Given the description of an element on the screen output the (x, y) to click on. 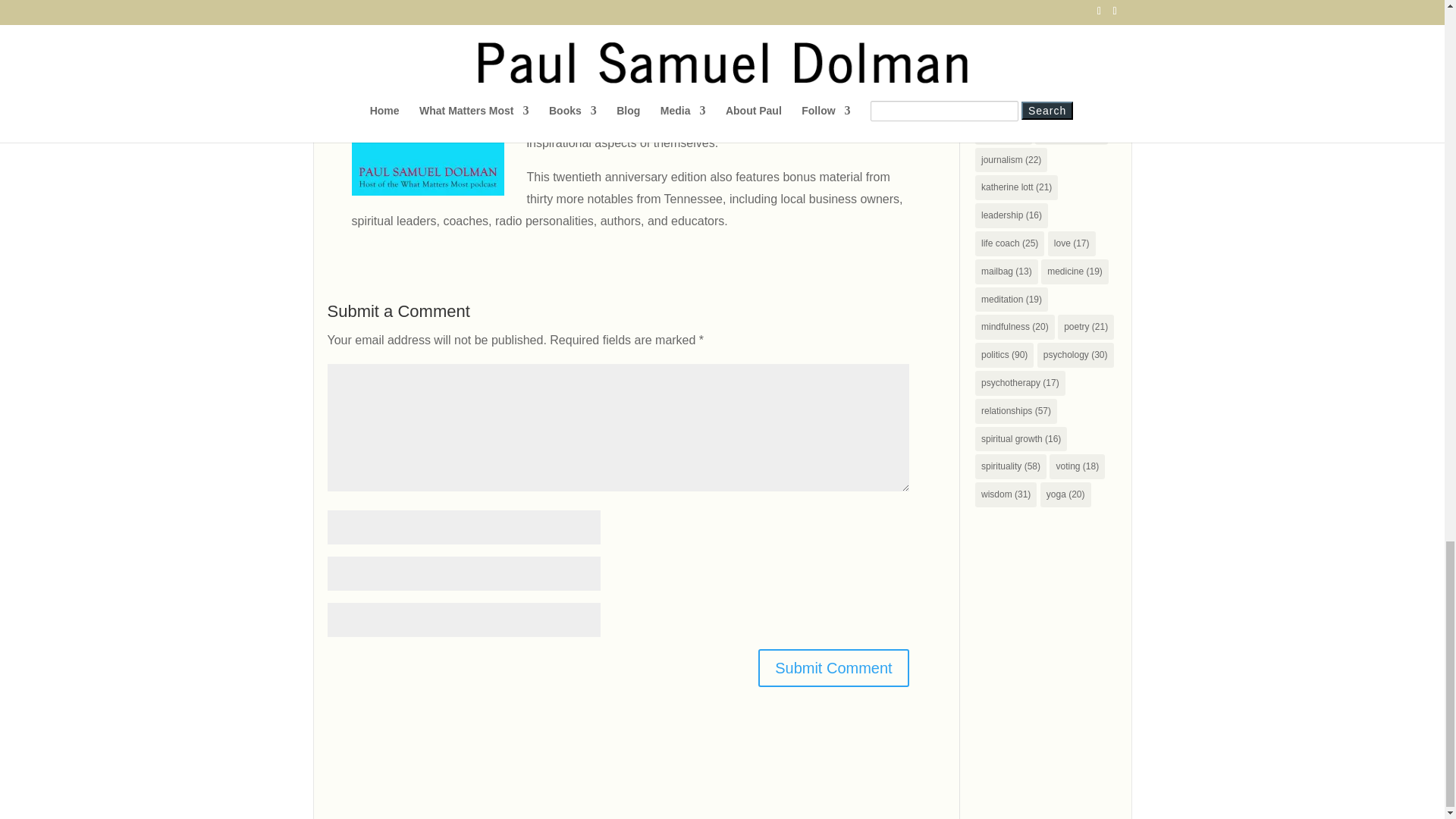
Submit Comment (833, 668)
